Given the description of an element on the screen output the (x, y) to click on. 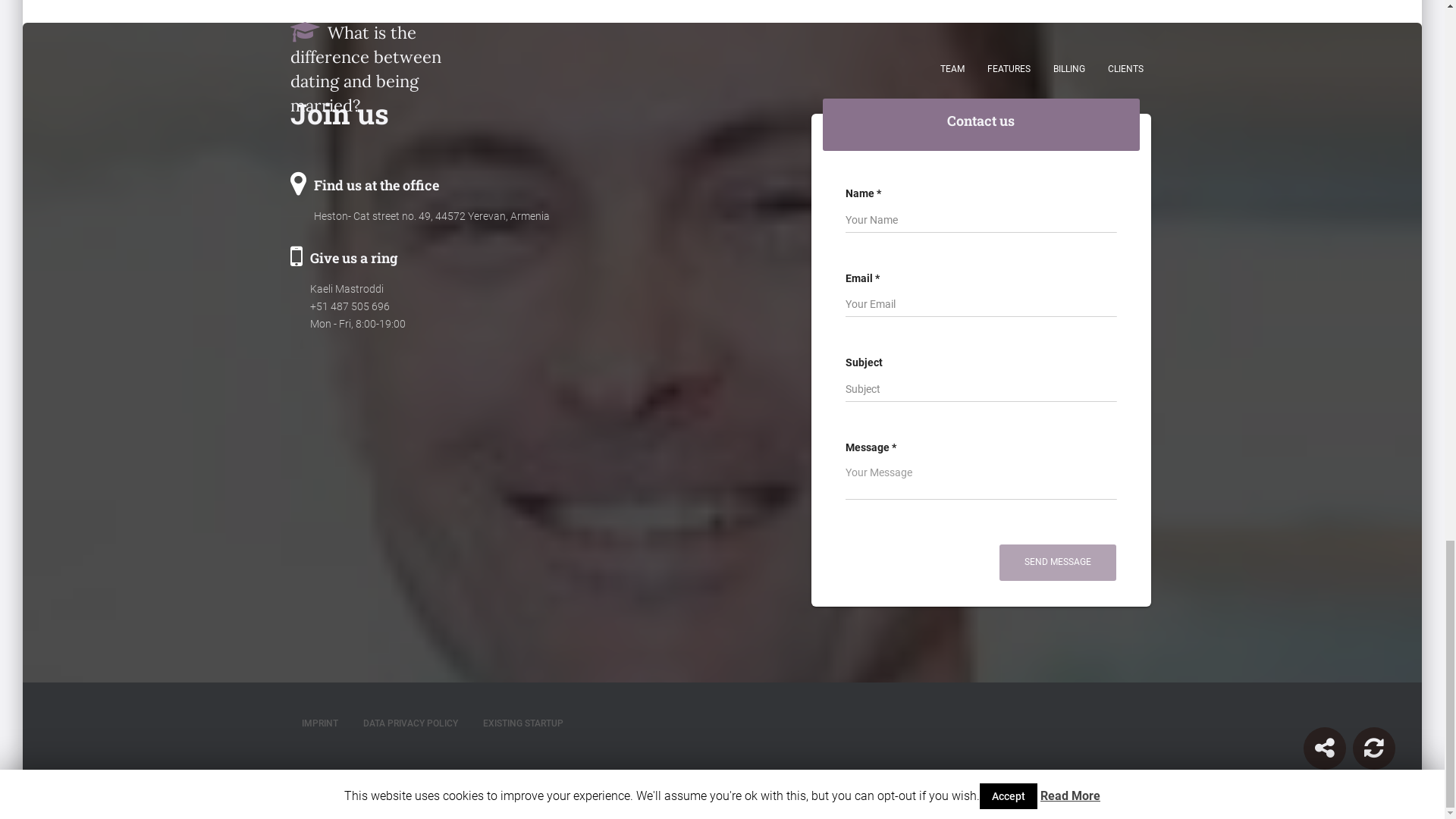
SEND MESSAGE (1057, 561)
EXISTING STARTUP (523, 723)
DATA PRIVACY POLICY (410, 723)
IMPRINT (319, 723)
